Given the description of an element on the screen output the (x, y) to click on. 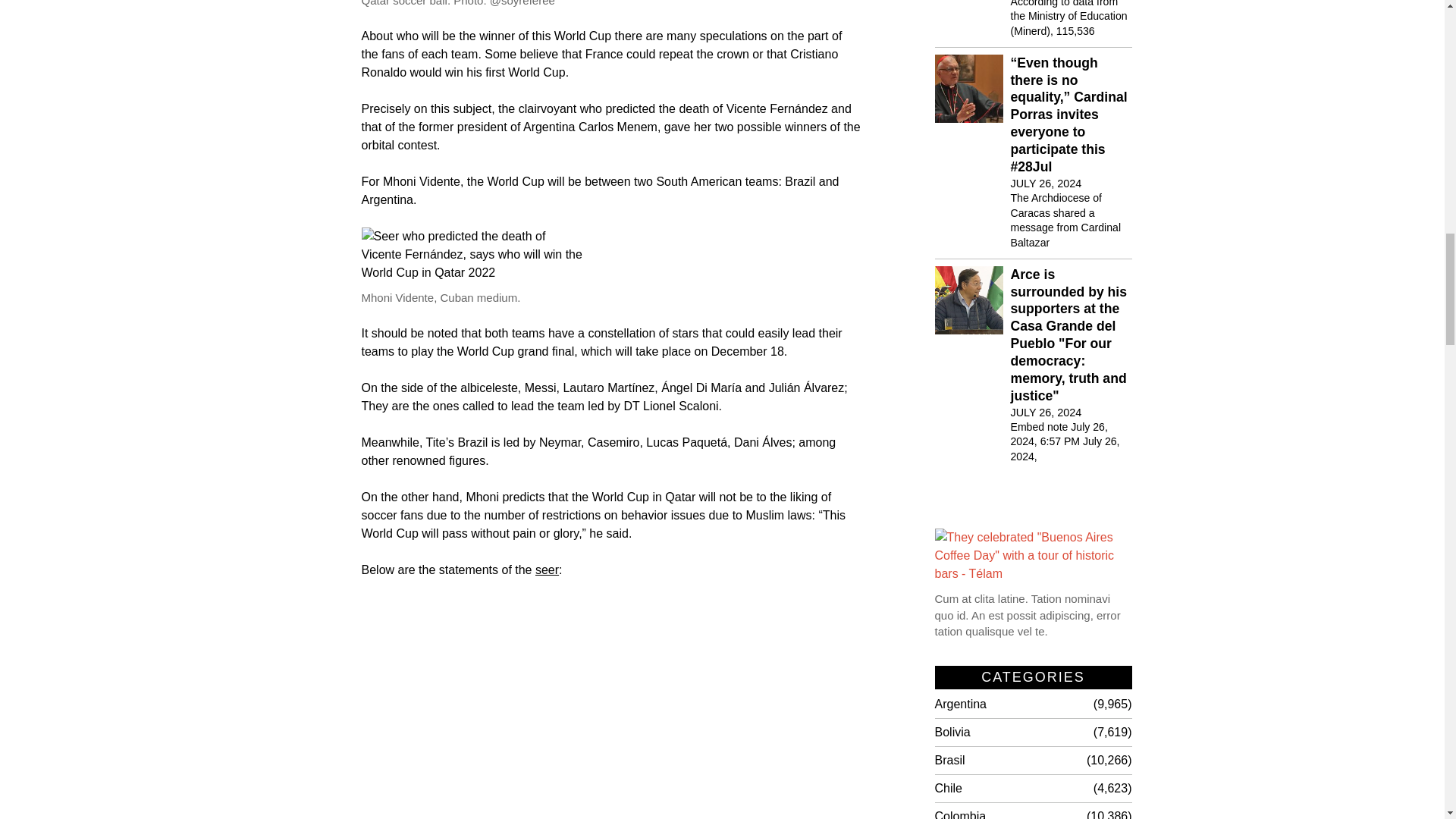
seer (547, 569)
Nuevas Predicciones de Mhonividente 16 de noviembre de 2022 (611, 708)
